Given the description of an element on the screen output the (x, y) to click on. 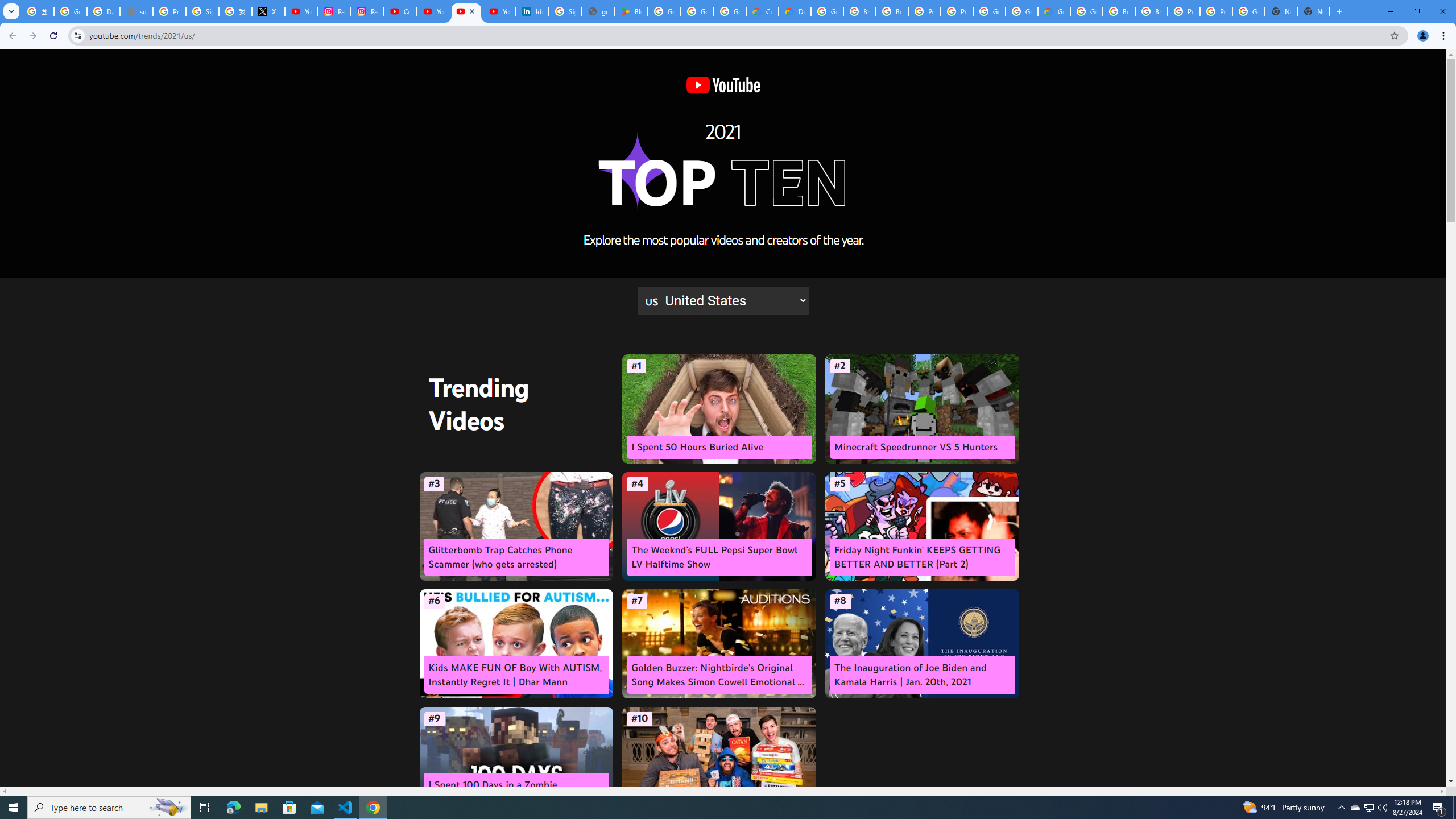
YouTube logo (722, 84)
Privacy Help Center - Policies Help (169, 11)
Google Workspace - Specific Terms (730, 11)
YouTube Culture & Trends - YouTube Top 10, 2021 (465, 11)
YouTube Culture & Trends - YouTube Top 10, 2021 (499, 11)
X (268, 11)
#1 I Spent 50 Hours Buried Alive (718, 408)
